Given the description of an element on the screen output the (x, y) to click on. 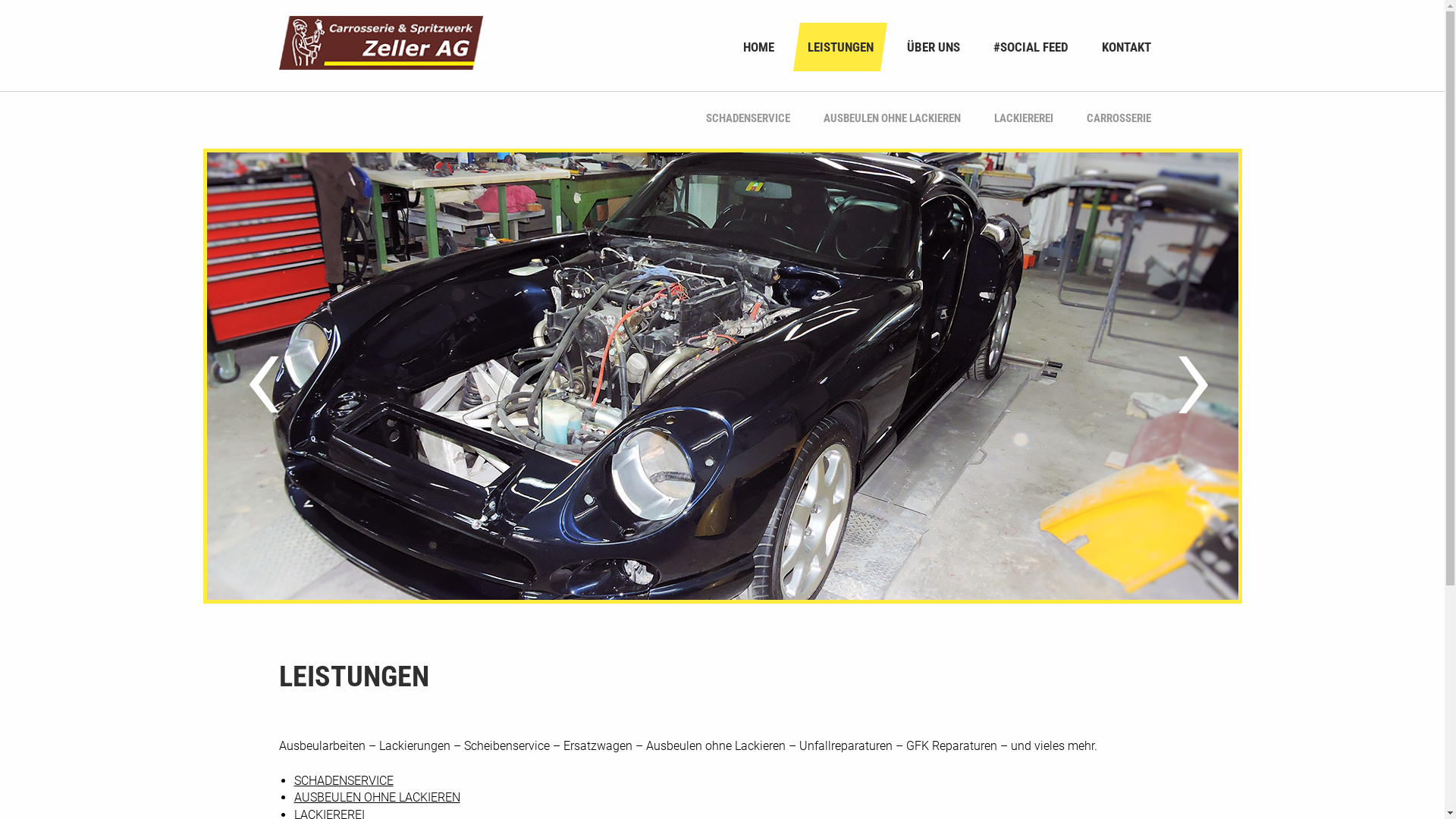
SCHADENSERVICE Element type: text (343, 780)
LACKIEREREI Element type: text (1022, 117)
AUSBEULEN OHNE LACKIEREN Element type: text (891, 117)
AUSBEULEN OHNE LACKIEREN Element type: text (377, 797)
Next Element type: text (1186, 376)
LEISTUNGEN Element type: text (839, 46)
CARROSSERIE Element type: text (1117, 117)
KONTAKT Element type: text (1125, 46)
#SOCIAL FEED Element type: text (1030, 46)
SCHADENSERVICE Element type: text (747, 117)
HOME Element type: text (758, 46)
Previous Element type: text (257, 376)
